Given the description of an element on the screen output the (x, y) to click on. 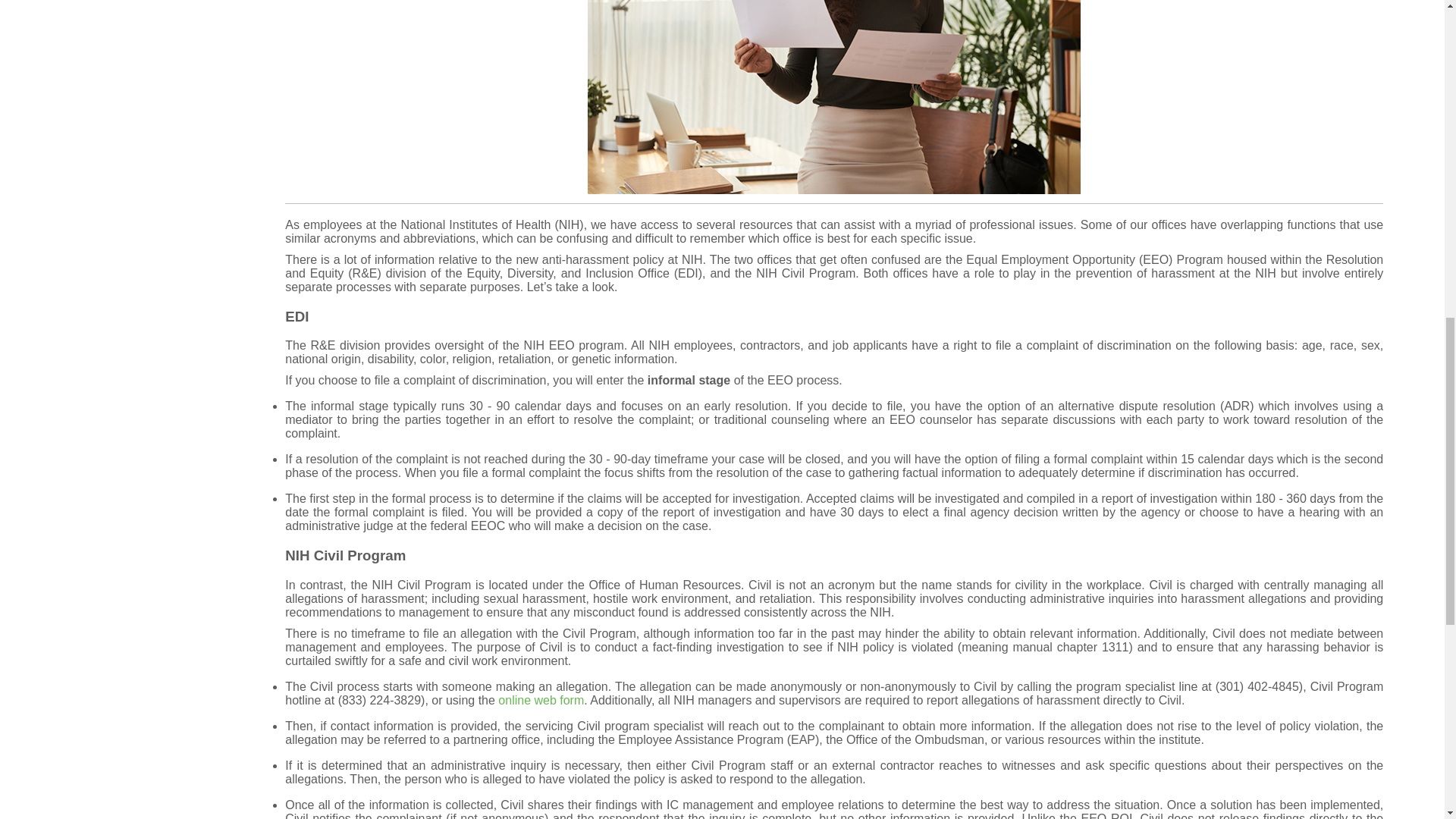
A young Asian woman in her office comparing notes. (834, 97)
